Given the description of an element on the screen output the (x, y) to click on. 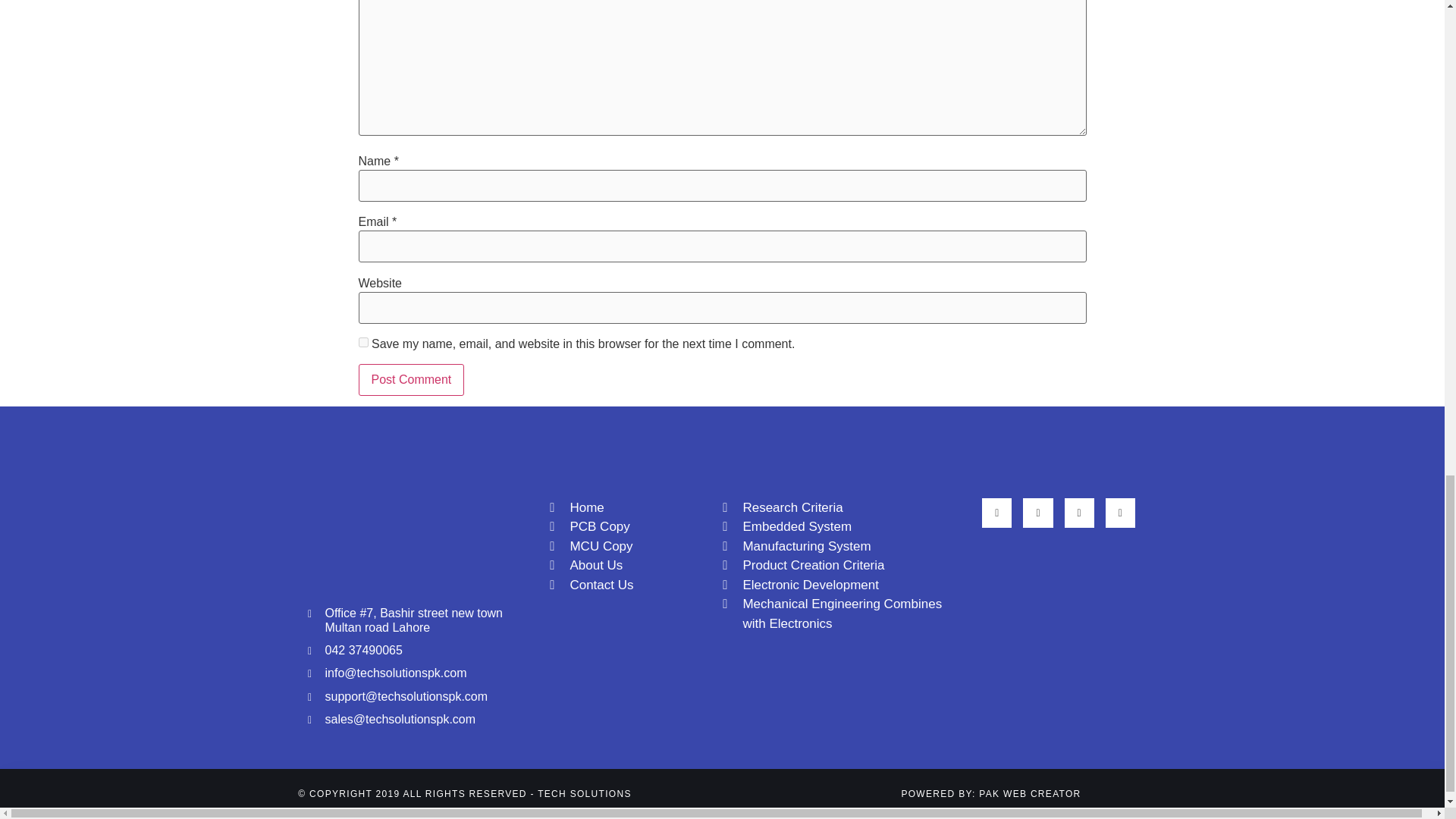
yes (363, 342)
Post Comment (411, 379)
